Given the description of an element on the screen output the (x, y) to click on. 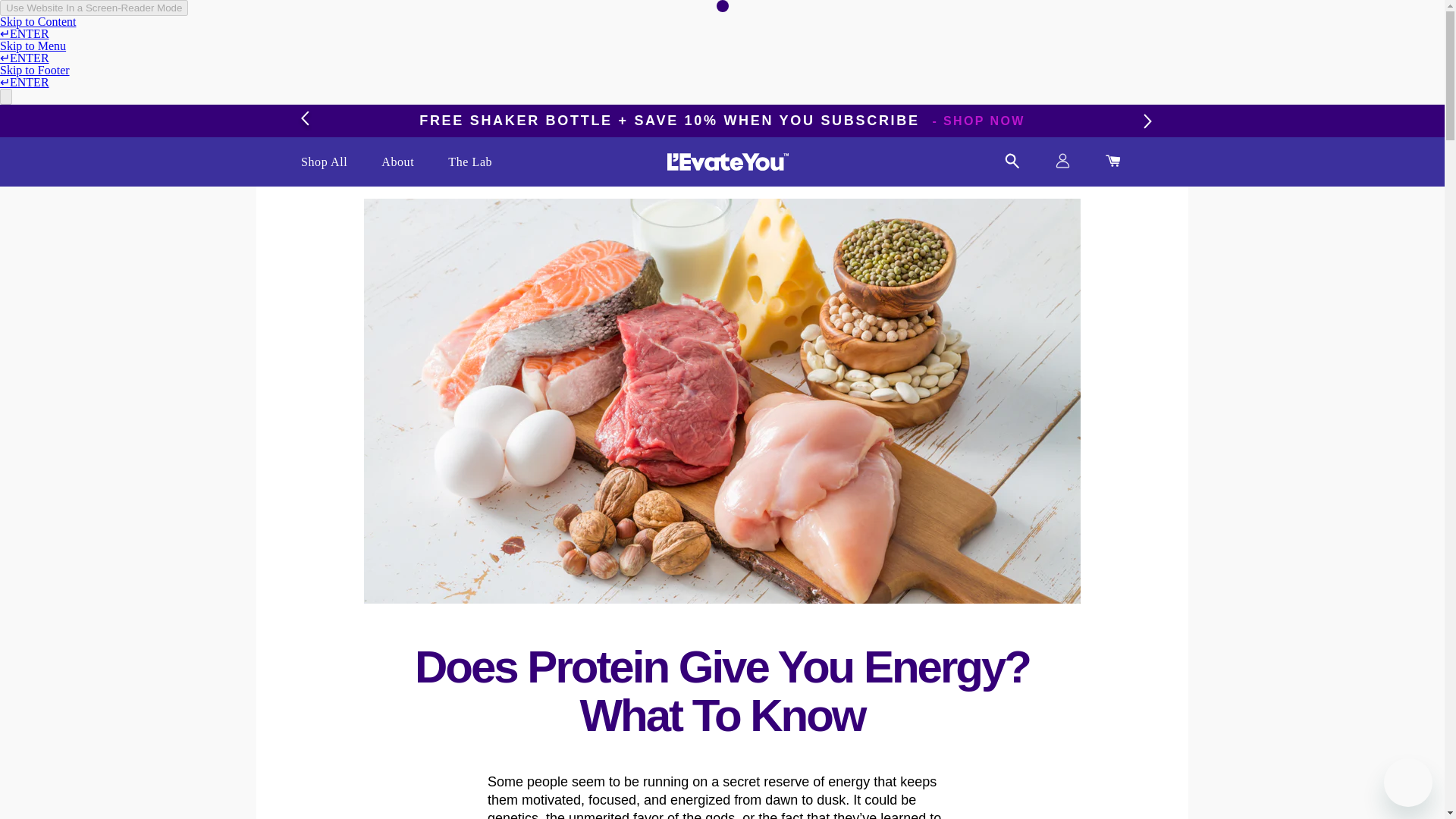
About (397, 161)
The Lab (470, 161)
Button to launch messaging window (1408, 782)
Shop All (324, 161)
- SHOP NOW (978, 120)
